Given the description of an element on the screen output the (x, y) to click on. 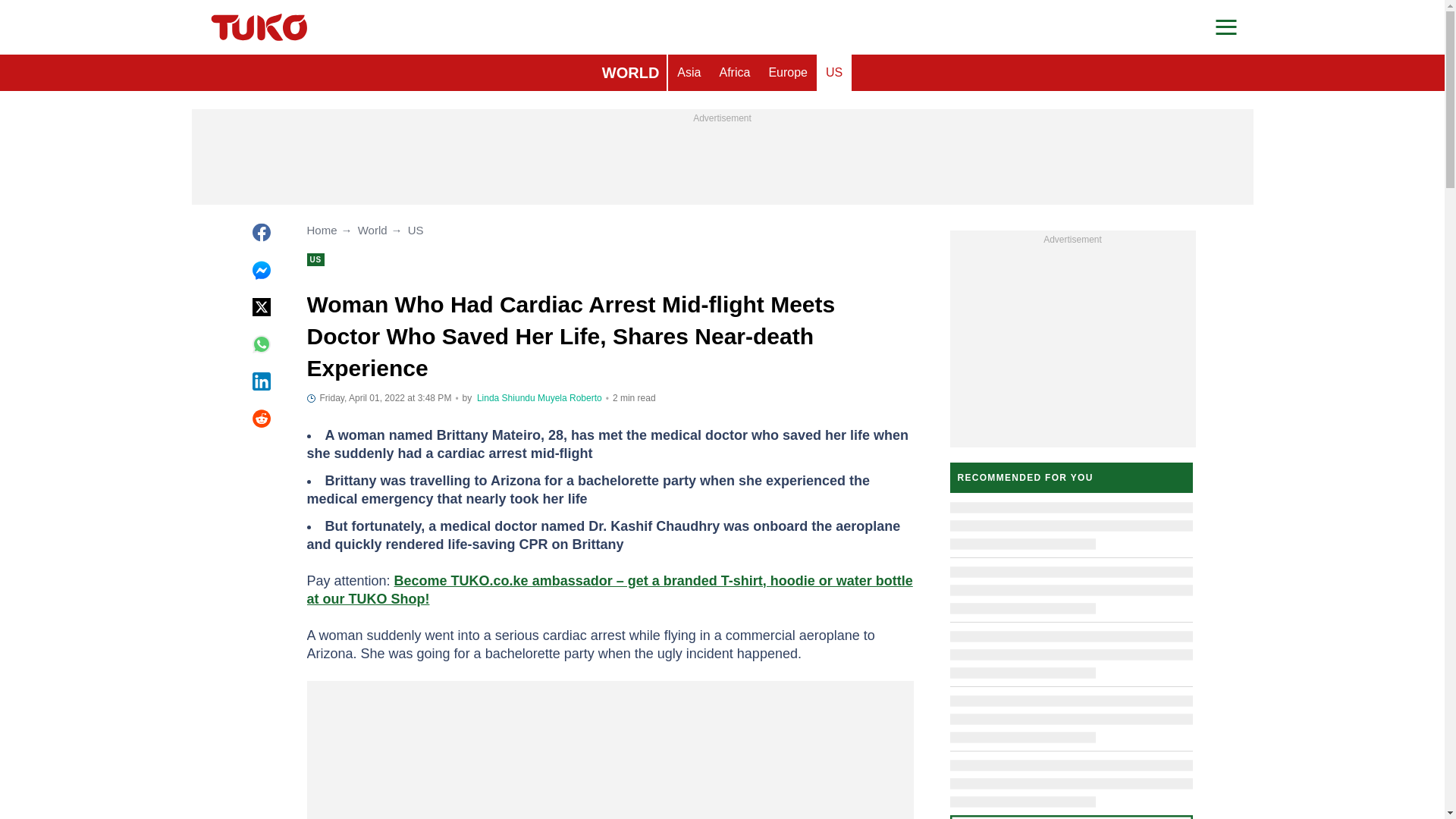
WORLD (630, 72)
Europe (787, 72)
Author page (569, 398)
Africa (734, 72)
Author page (506, 398)
Asia (689, 72)
US (833, 72)
